Given the description of an element on the screen output the (x, y) to click on. 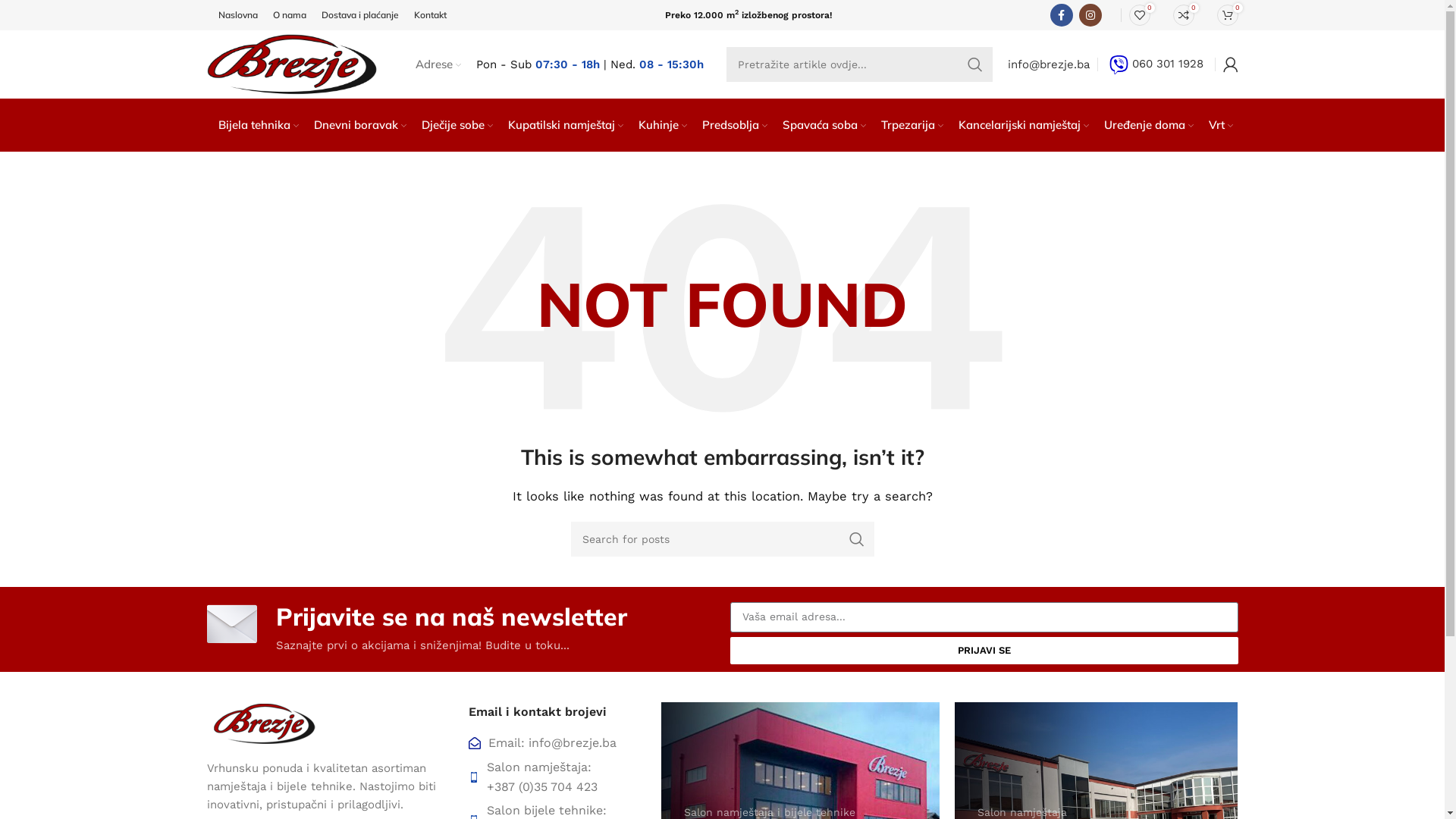
wd-phone-megamarket Element type: hover (473, 776)
0 Element type: text (1182, 15)
PRIJAVI SE Element type: text (983, 650)
Naslovna Element type: text (237, 15)
logobrezje Element type: hover (263, 722)
My account Element type: hover (1229, 64)
Predsoblja Element type: text (734, 124)
info@brezje.ba Element type: text (1047, 64)
0 Element type: text (1138, 15)
Trpezarija Element type: text (912, 124)
Adrese Element type: text (438, 64)
0 Element type: text (1226, 15)
SEARCH Element type: text (974, 64)
SEARCH Element type: text (855, 538)
Kuhinje Element type: text (662, 124)
Kontakt Element type: text (430, 15)
O nama Element type: text (289, 15)
Vrt Element type: text (1220, 124)
Bijela tehnika Element type: text (258, 124)
Search for posts Element type: hover (721, 538)
Dnevni boravak Element type: text (359, 124)
060 301 1928 Element type: text (1155, 63)
